Given the description of an element on the screen output the (x, y) to click on. 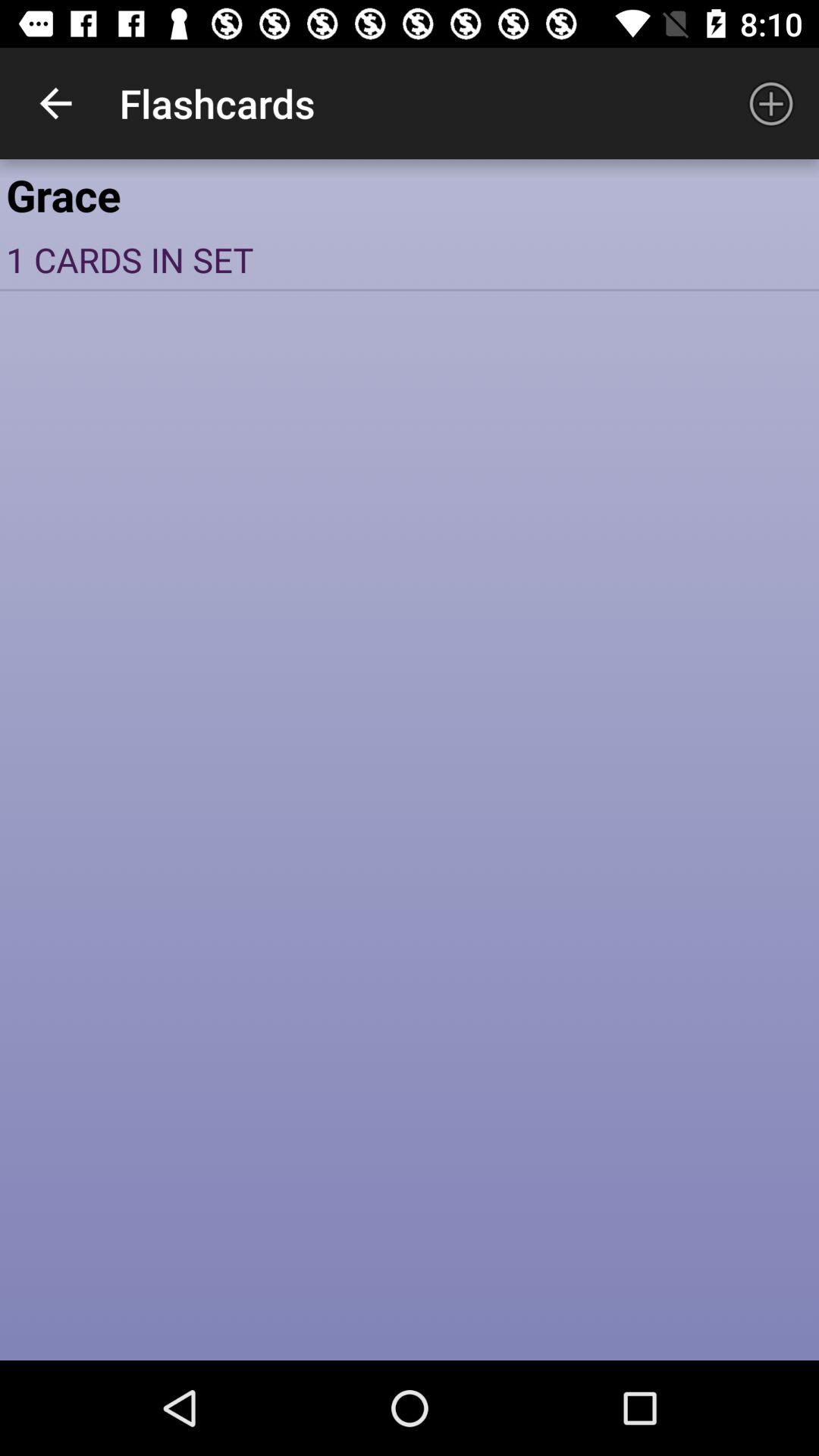
launch the item at the top right corner (771, 103)
